Given the description of an element on the screen output the (x, y) to click on. 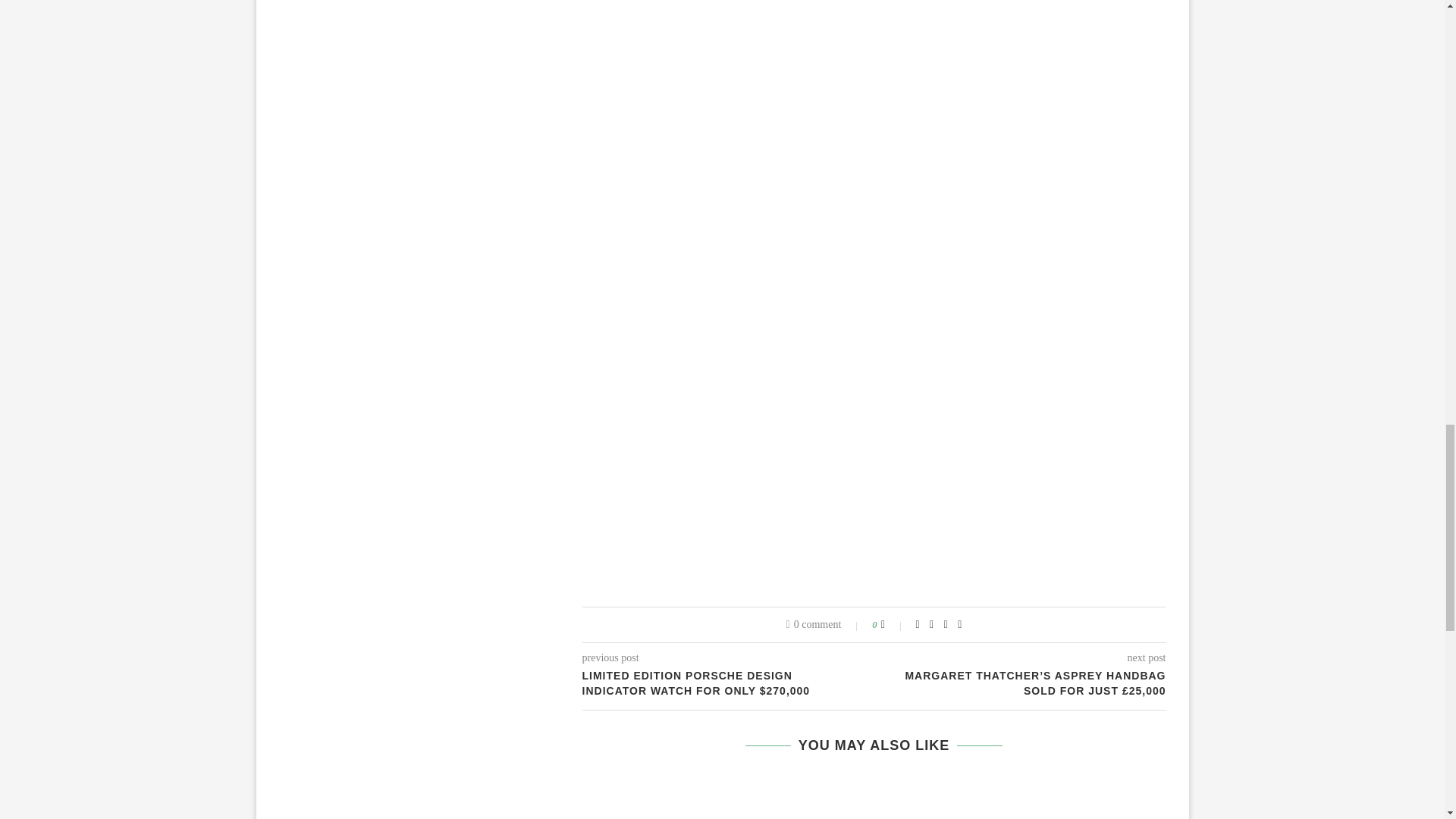
Like (892, 624)
